Given the description of an element on the screen output the (x, y) to click on. 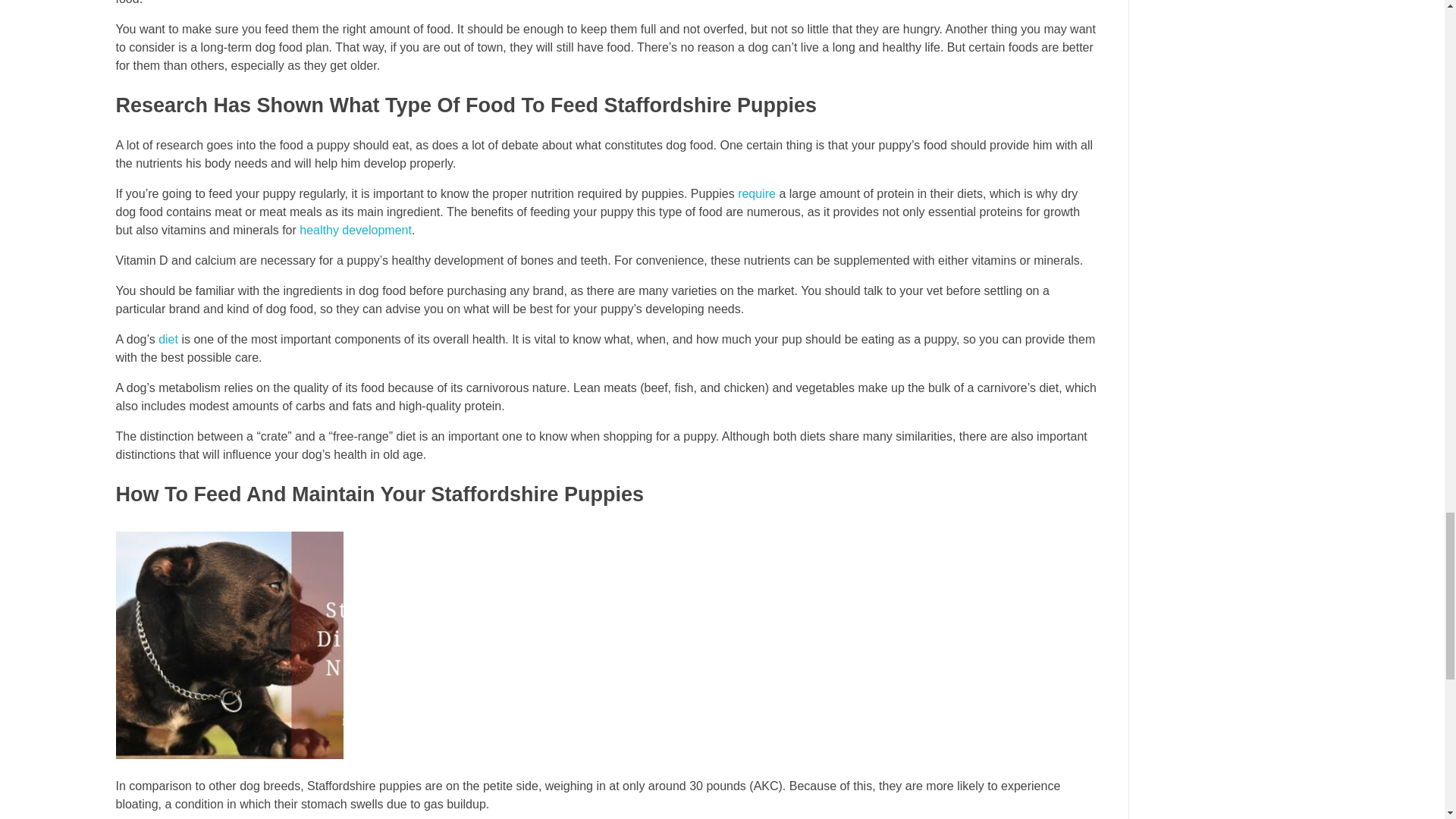
healthy development (355, 229)
require (757, 193)
diet (167, 338)
